Given the description of an element on the screen output the (x, y) to click on. 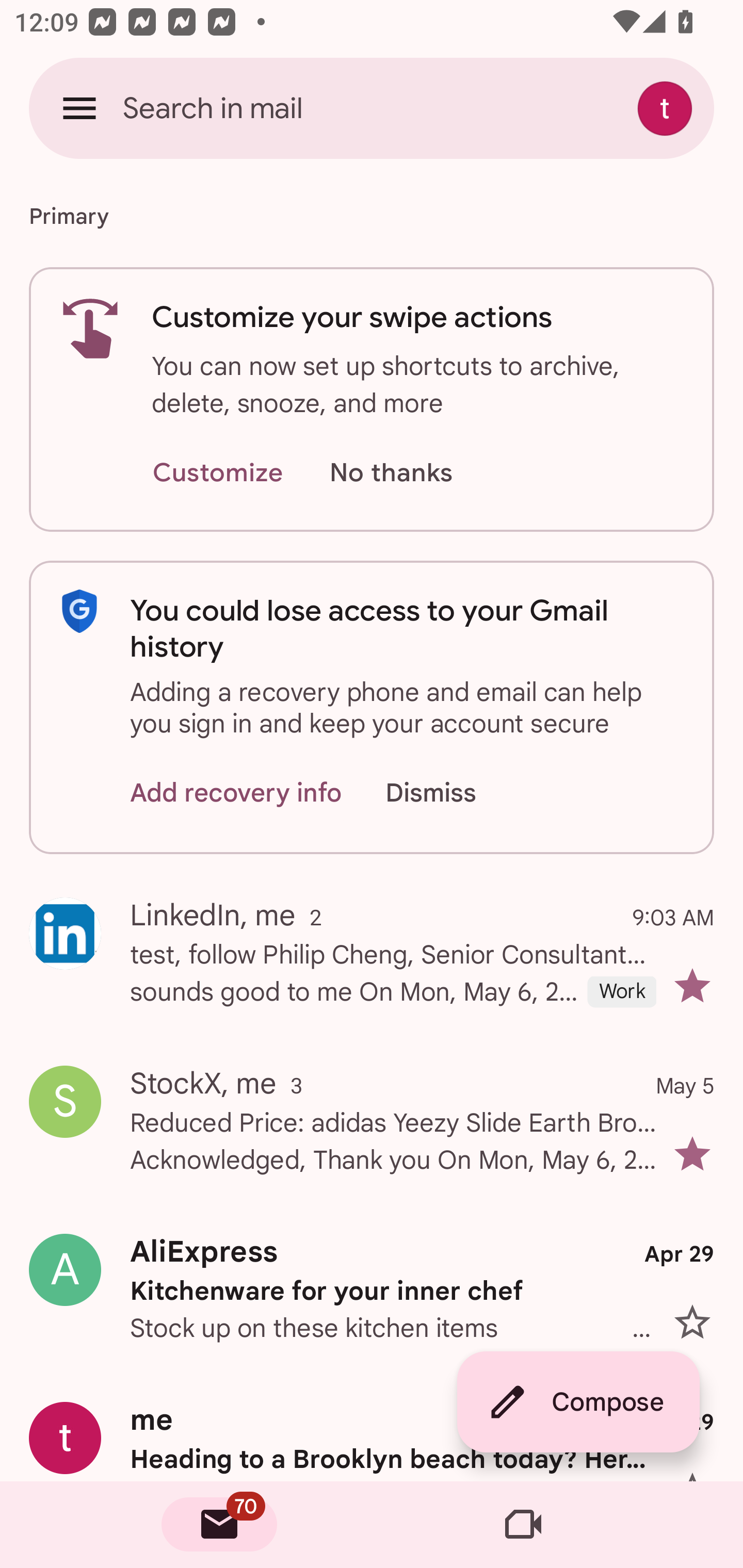
Open navigation drawer (79, 108)
Customize (217, 473)
No thanks (390, 473)
Add recovery info (235, 792)
Dismiss (449, 792)
Compose (577, 1401)
Meet (523, 1524)
